Given the description of an element on the screen output the (x, y) to click on. 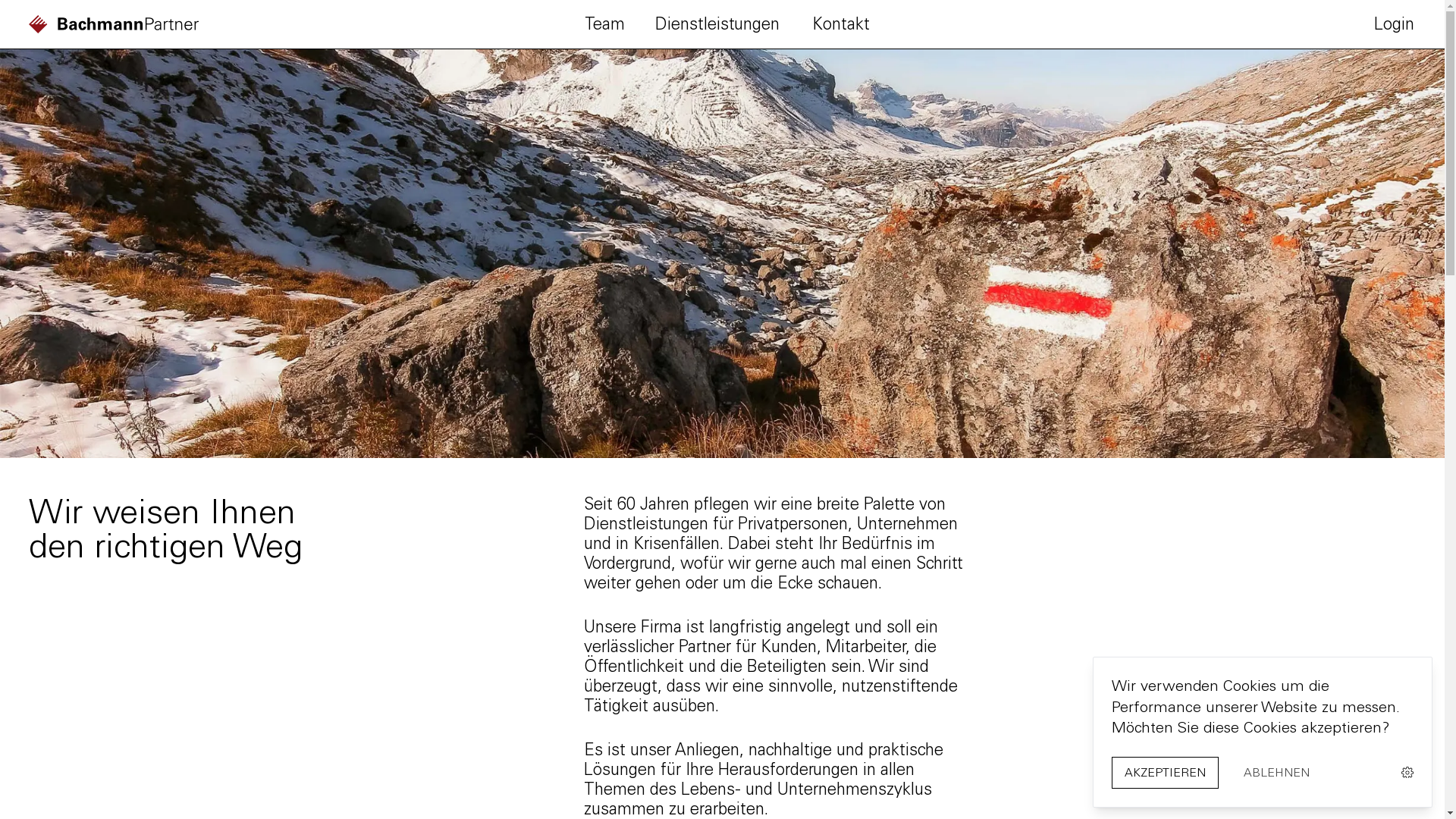
ABLEHNEN Element type: text (1276, 771)
AKZEPTIEREN Element type: text (1164, 771)
Team Element type: text (604, 24)
Kontakt Element type: text (840, 24)
Login Element type: text (1393, 24)
Dienstleistungen Element type: text (717, 24)
